Given the description of an element on the screen output the (x, y) to click on. 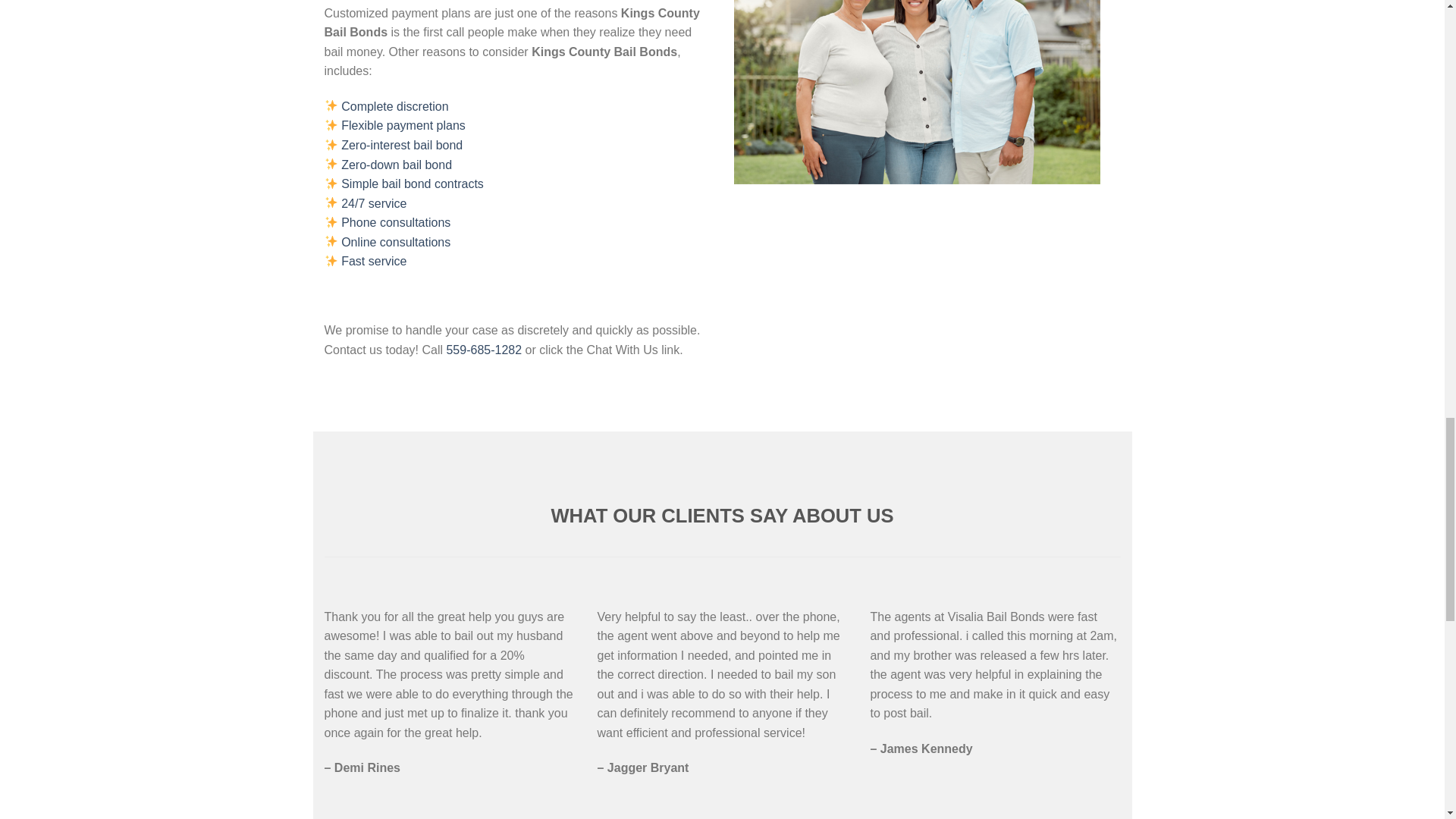
Zero-interest bail bond (401, 144)
Flexible payment plans (402, 124)
Discreet Bail Bonds in California (394, 106)
Phone consultations (394, 222)
Online consultations (394, 241)
How Do I Bail Someone Out Fast? (373, 260)
Complete discretion (394, 106)
Avoid Interest and Hidden Fees (401, 144)
Are You Looking for Flexible Payment Options? (402, 124)
No Money Down Bail Bonds in California (395, 164)
Online Bail Approval Makes Getting a Bail Bond Easy (394, 241)
Simple bail bond contracts (411, 183)
Fast service (373, 260)
559-685-1282 (483, 349)
Zero-down bail bond (395, 164)
